Given the description of an element on the screen output the (x, y) to click on. 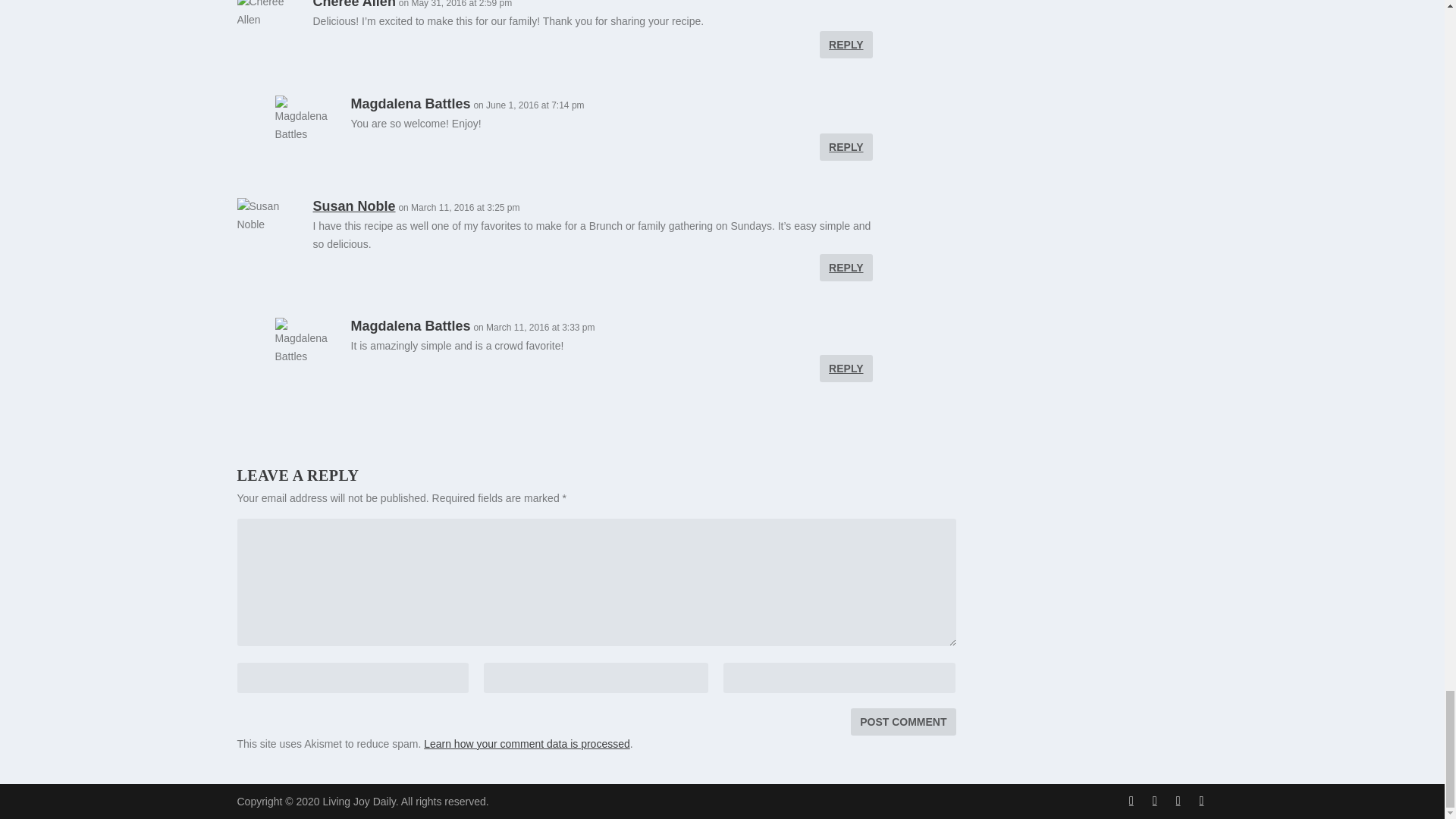
Post Comment (902, 721)
